Given the description of an element on the screen output the (x, y) to click on. 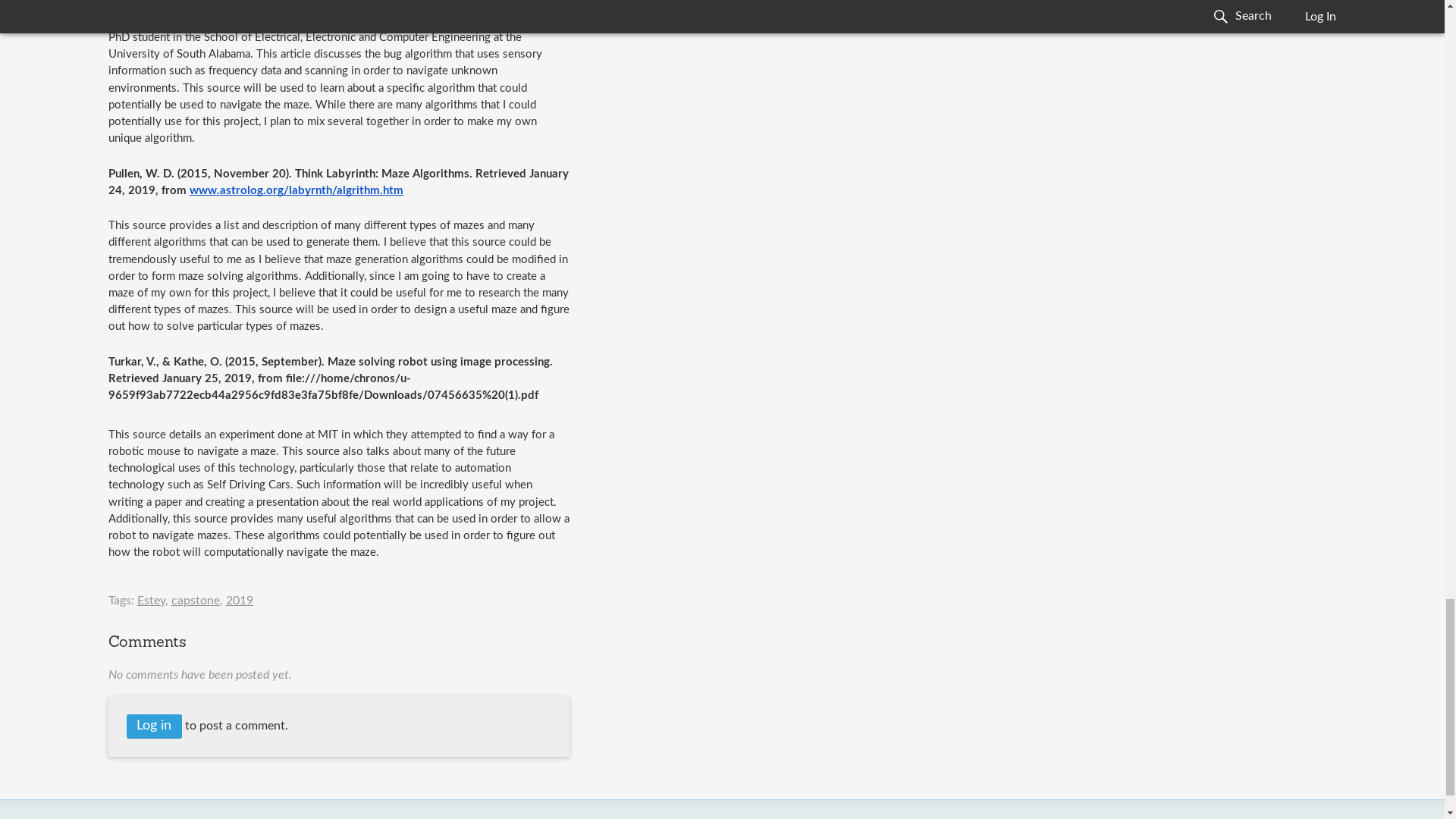
2019 (239, 600)
capstone (195, 600)
Estey (150, 600)
Log in (154, 726)
